Given the description of an element on the screen output the (x, y) to click on. 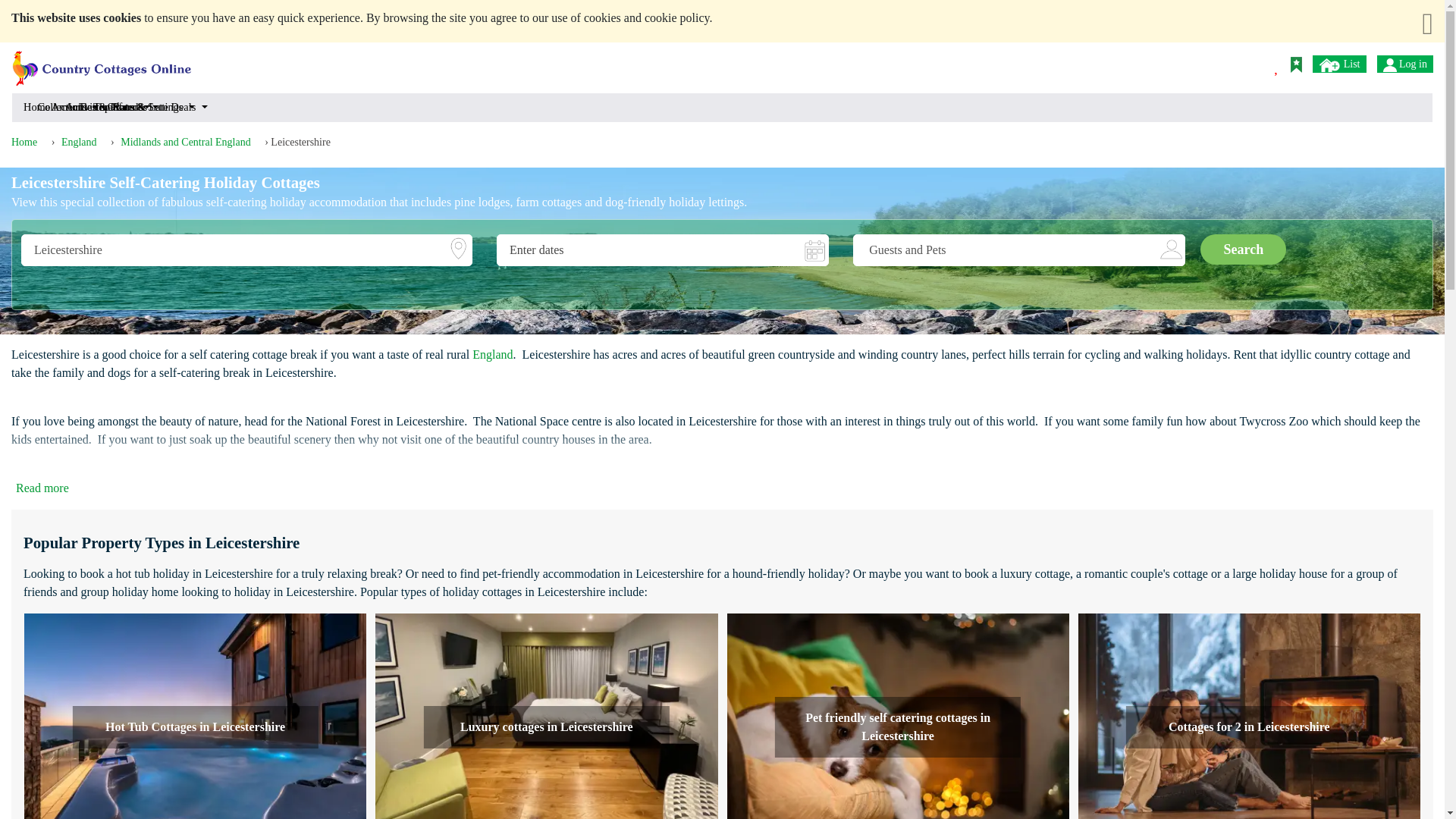
List (1339, 63)
country cottages online (102, 62)
Pet friendly self catering cottages in Leicestershire (897, 716)
Cottages for 2 in Leicestershire (1249, 716)
list your property (1329, 64)
Cottages for 2 in Leicestershire (1249, 725)
Log in (1404, 63)
Hot Tub Cottages in Leicestershire (195, 716)
Luxury cottages in Leicestershire (546, 725)
Search (1242, 249)
